Given the description of an element on the screen output the (x, y) to click on. 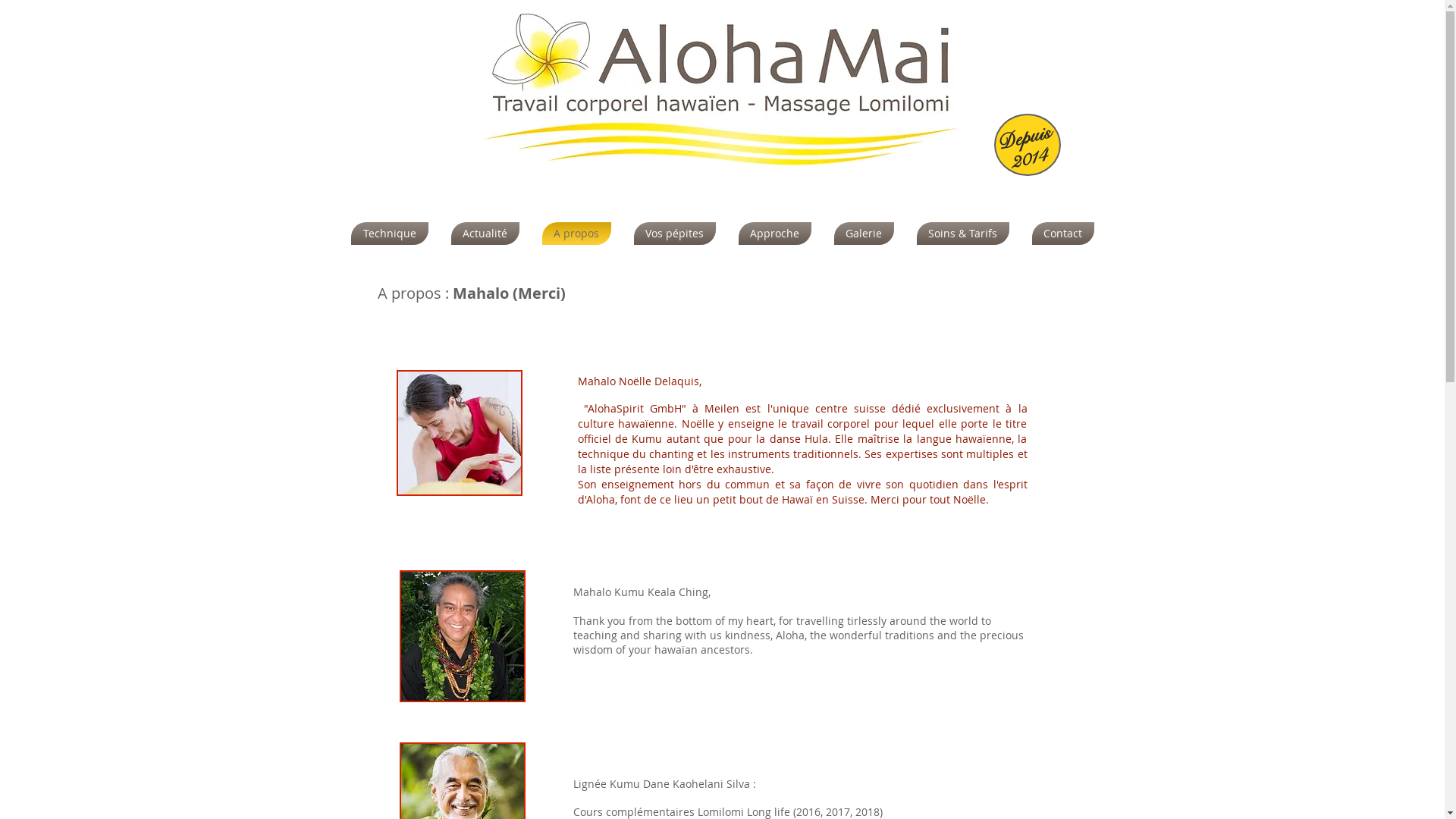
Approche Element type: text (774, 233)
Logo Aloha Mai Copyright Element type: hover (723, 92)
A propos Element type: text (576, 233)
Contact Element type: text (1057, 233)
Galerie Element type: text (863, 233)
Soins & Tarifs Element type: text (962, 233)
Technique Element type: text (394, 233)
